Given the description of an element on the screen output the (x, y) to click on. 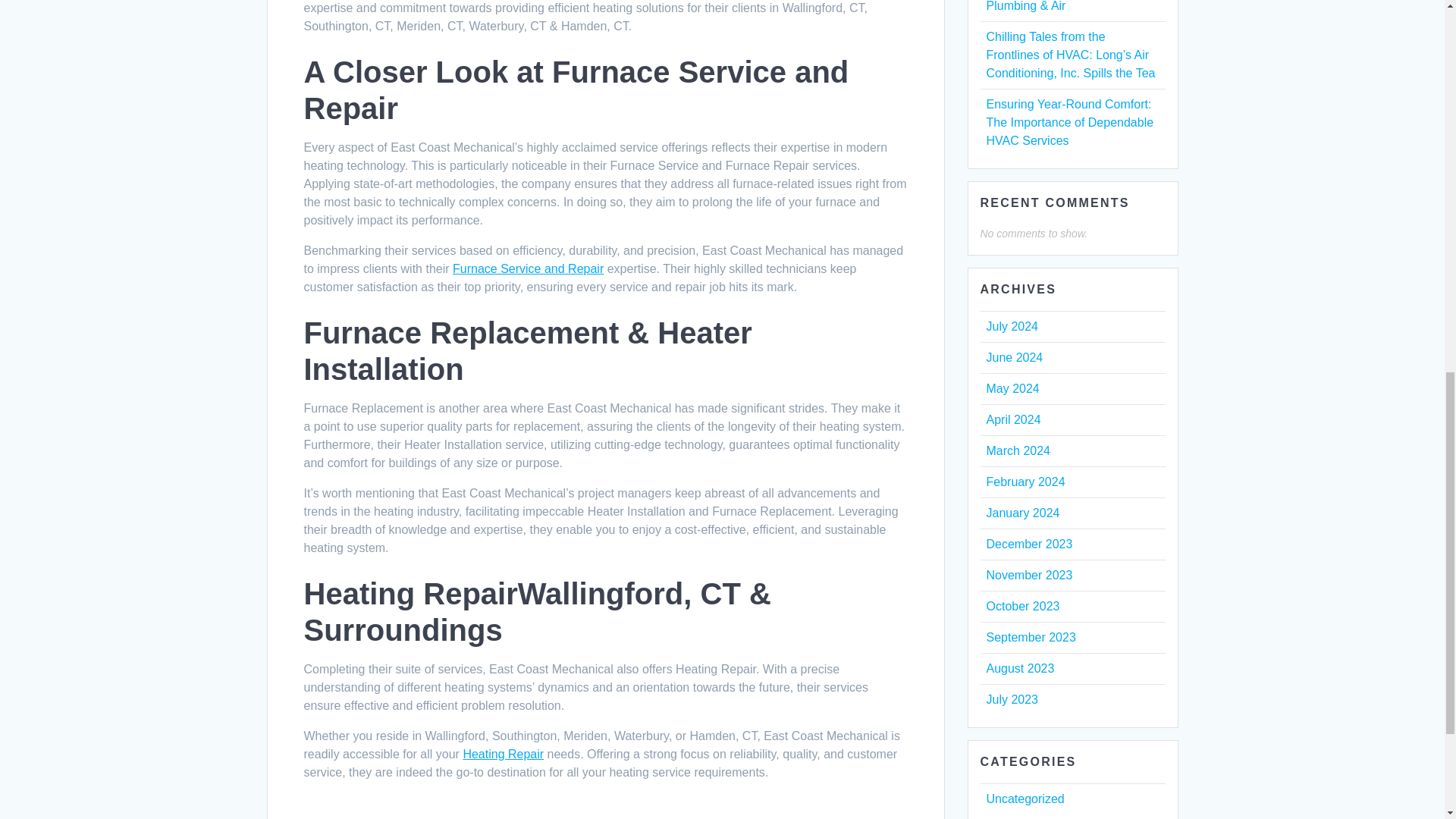
Furnace Service and Repair (528, 268)
Uncategorized (1024, 798)
Heating Repair (503, 753)
July 2023 (1011, 698)
August 2023 (1019, 667)
October 2023 (1022, 605)
September 2023 (1030, 636)
January 2024 (1022, 512)
November 2023 (1028, 574)
May 2024 (1012, 388)
March 2024 (1017, 450)
February 2024 (1024, 481)
April 2024 (1013, 419)
July 2024 (1011, 326)
